Given the description of an element on the screen output the (x, y) to click on. 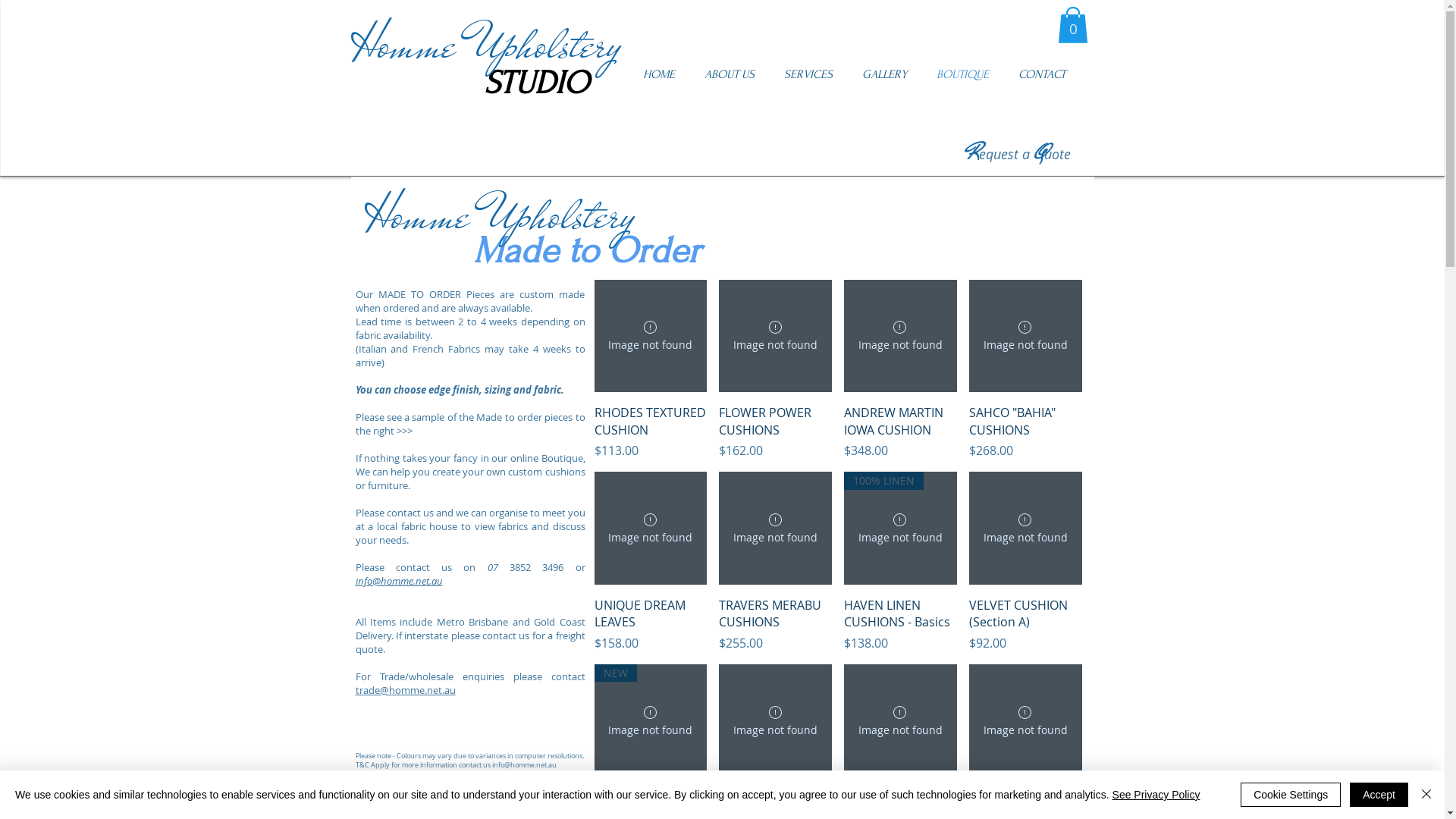
DEDAR "FUNKY STRIPES" CUSHIONS
Image not found Element type: text (774, 720)
FLOWER POWER CUSHIONS
Image not found Element type: text (900, 720)
HAVEN LINEN CUSHIONS - Basics
Price
$138.00 Element type: text (900, 624)
Homme Element type: text (416, 214)
CONTACT Element type: text (1047, 74)
RHODES TEXTURED CUSHION
Image not found Element type: text (650, 335)
BOUTIQUE Element type: text (969, 74)
UNIQUE DREAM LEAVES
Image not found
NEW Element type: text (650, 720)
0 Element type: text (1072, 24)
GALLERY Element type: text (890, 74)
info@homme.net.au Element type: text (523, 764)
TRAVERS MERABU CUSHIONS
Image not found Element type: text (774, 527)
ANDREW MARTIN IOWA CUSHION
Image not found Element type: text (900, 335)
ABOUT US Element type: text (735, 74)
SAHCO "BAHIA" CUSHIONS
Price
$268.00 Element type: text (1025, 431)
ANDREW MARTIN IOWA CUSHION
Price
$348.00 Element type: text (900, 431)
SERVICES Element type: text (815, 74)
info@homme.net.au Element type: text (398, 580)
RHODES TEXTURED CUSHION
Price
$113.00 Element type: text (650, 431)
TRAVERS MERABU CUSHIONS
Price
$255.00 Element type: text (774, 624)
HAVEN LINEN CUSHIONS - Basics
Image not found
100% LINEN Element type: text (900, 527)
Homme Element type: text (402, 44)
Request a Quote Element type: text (1018, 153)
SAHCO "BAHIA" CUSHIONS
Image not found Element type: text (1025, 335)
SAHCO "BAHIA" CUSHIONS (FEATURED COL-4)
Image not found Element type: text (1025, 720)
Cookie Settings Element type: text (1290, 794)
UNIQUE DREAM LEAVES
Price
$158.00 Element type: text (650, 624)
FLOWER POWER CUSHIONS
Image not found Element type: text (774, 335)
trade@homme.net.au Element type: text (404, 689)
HOME Element type: text (665, 74)
FLOWER POWER CUSHIONS
Price
$162.00 Element type: text (774, 431)
Accept Element type: text (1378, 794)
VELVET CUSHION (Section A)
Price
$92.00 Element type: text (1025, 624)
VELVET CUSHION (Section A)
Image not found Element type: text (1025, 527)
See Privacy Policy Element type: text (1156, 794)
UNIQUE DREAM LEAVES
Image not found Element type: text (650, 527)
